Given the description of an element on the screen output the (x, y) to click on. 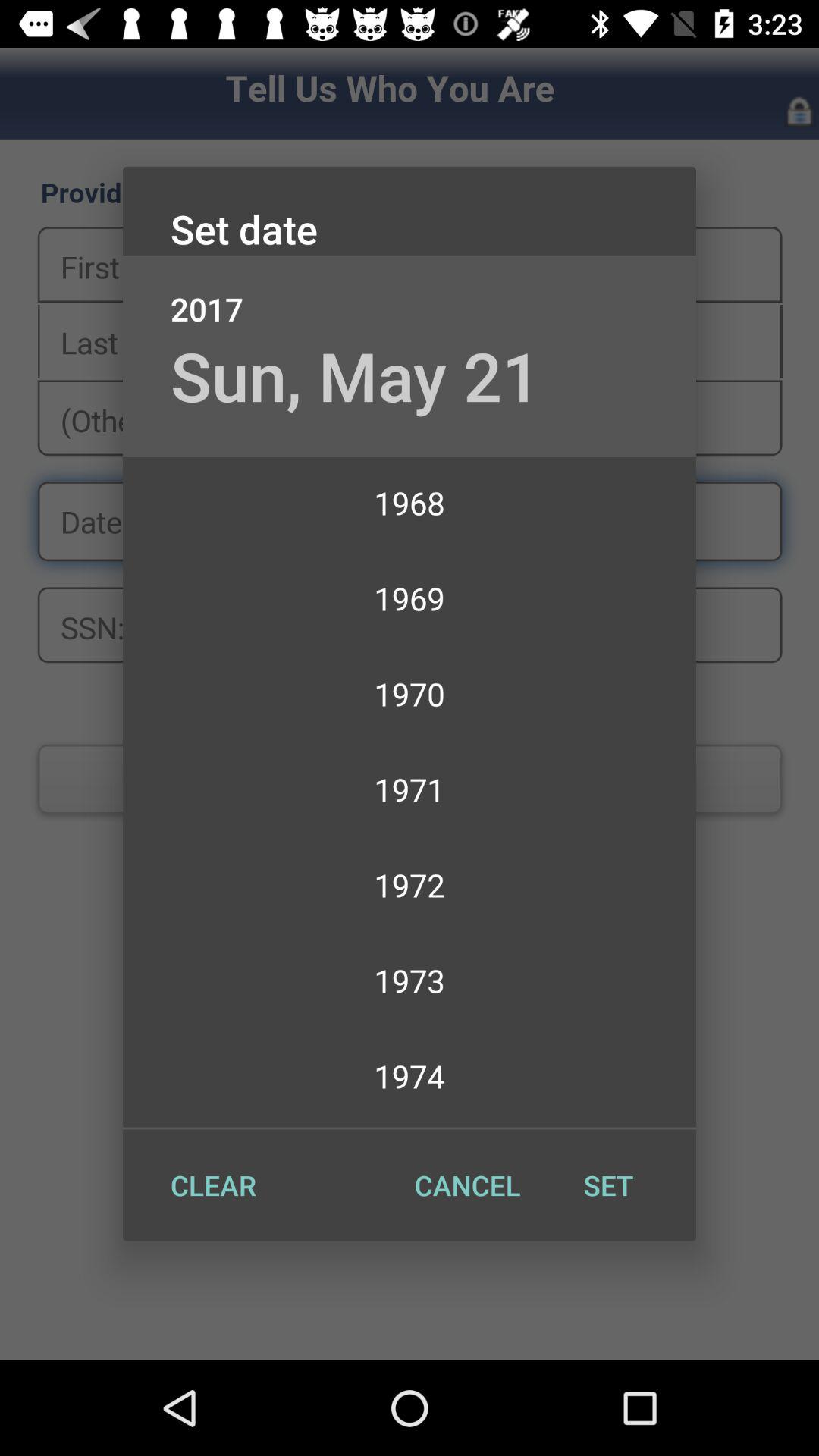
select the clear (213, 1185)
